Given the description of an element on the screen output the (x, y) to click on. 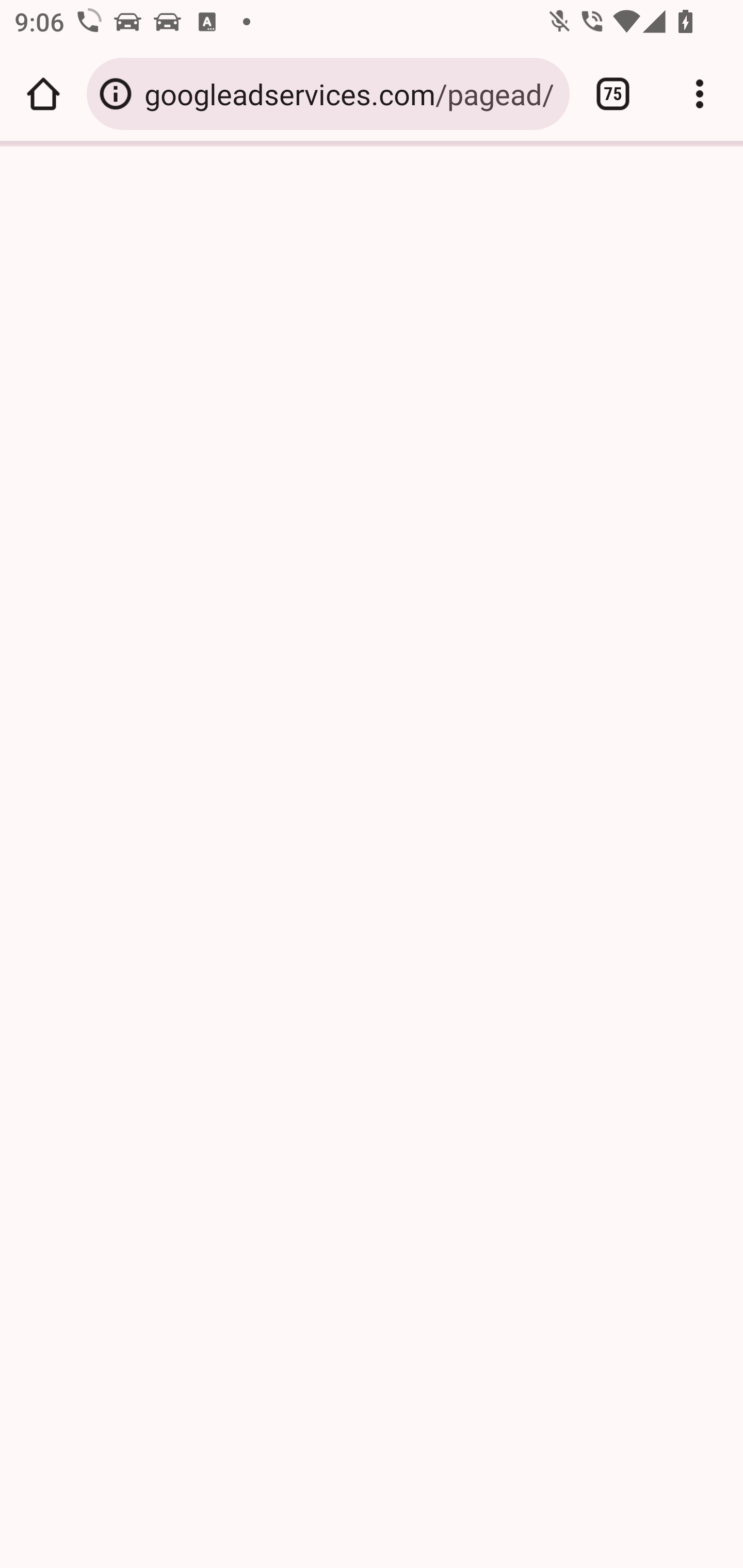
Open the home page (43, 93)
Your connection to this site is not secure (115, 93)
Switch or close tabs (612, 93)
Customize and control Google Chrome (699, 93)
